Given the description of an element on the screen output the (x, y) to click on. 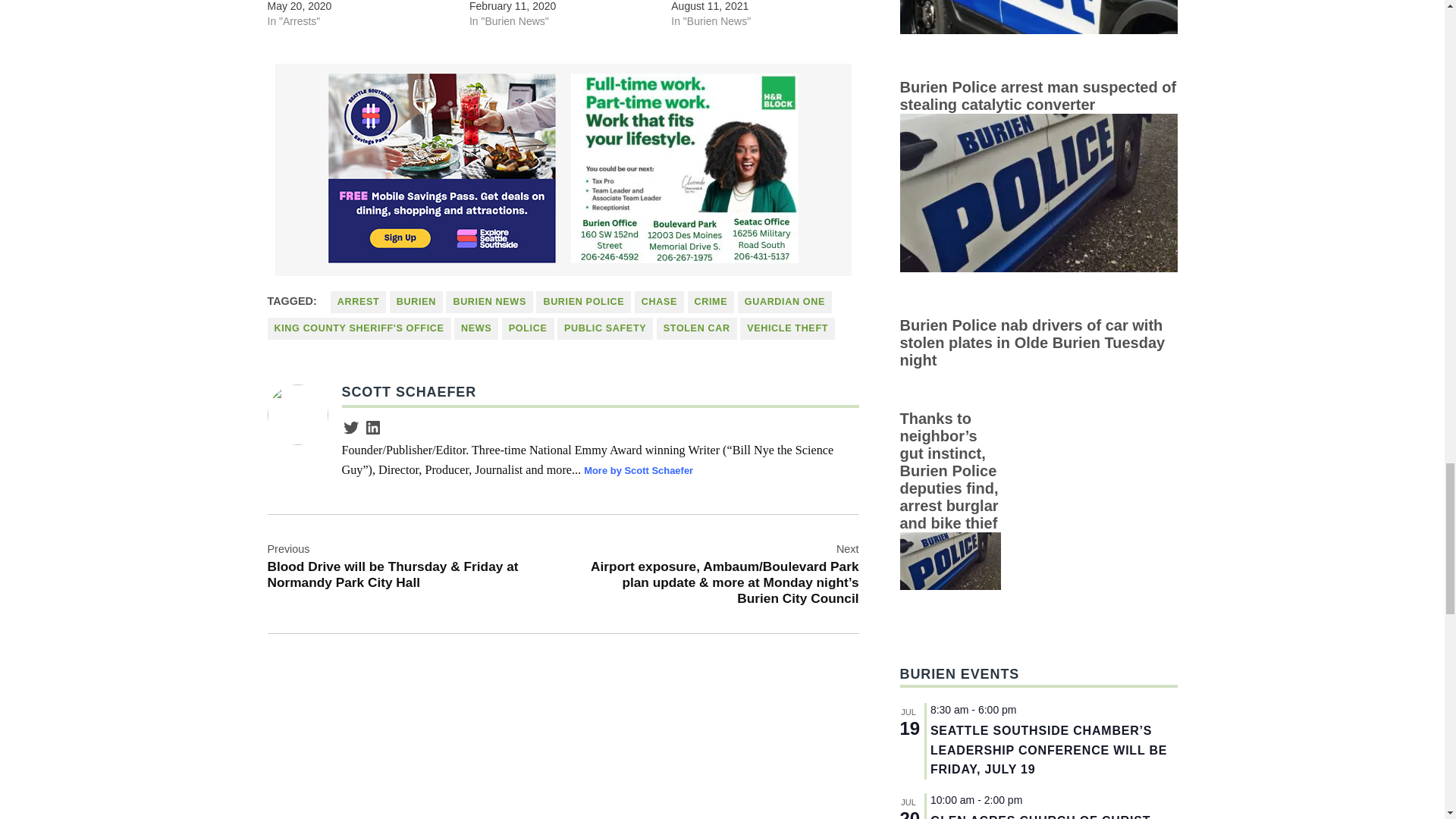
twitter (349, 427)
linkedin (372, 427)
